Given the description of an element on the screen output the (x, y) to click on. 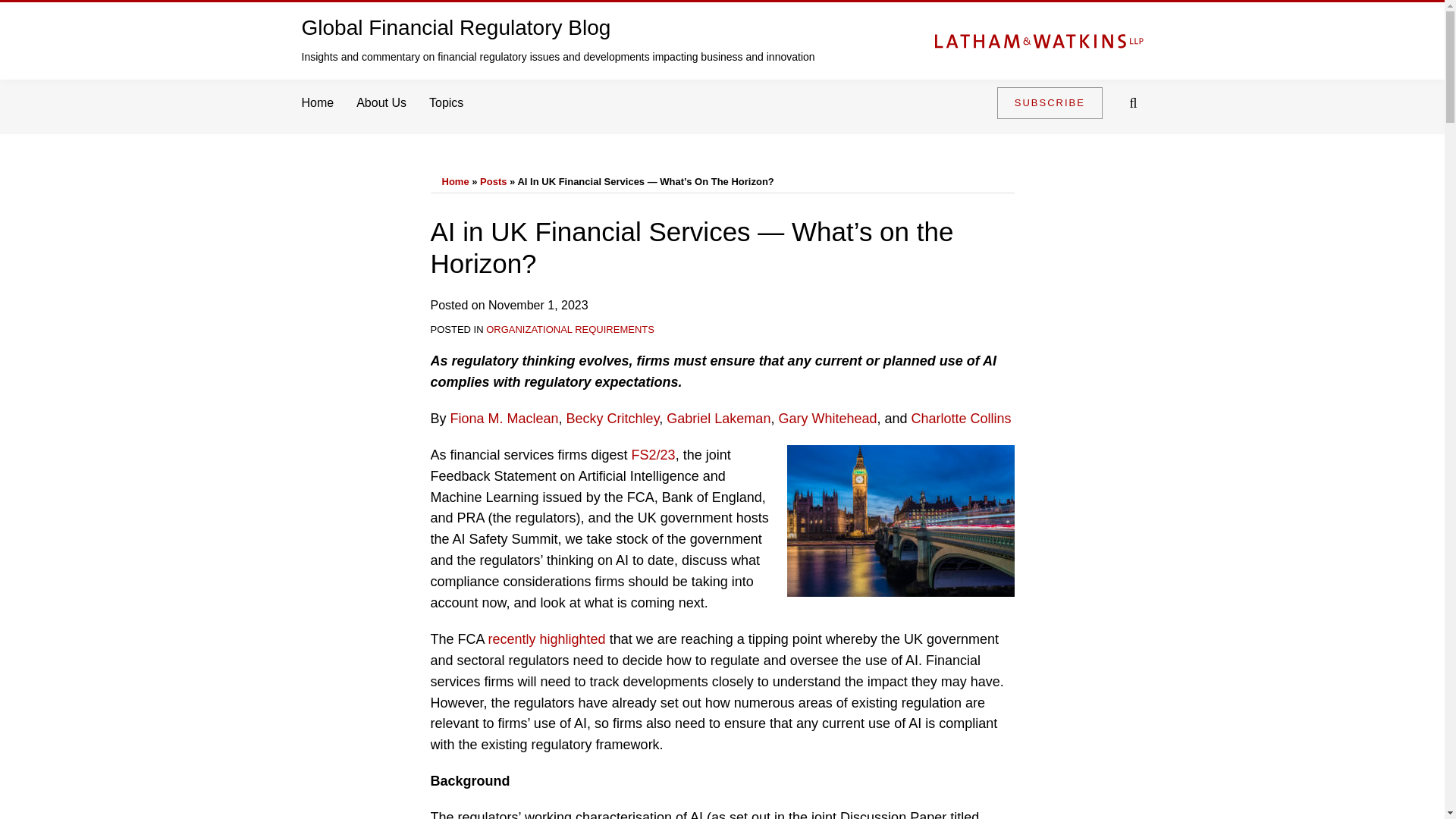
Home (454, 181)
Charlotte Collins (961, 418)
About Us (381, 103)
Global Financial Regulatory Blog (456, 27)
Fiona M. Maclean (504, 418)
Gabriel Lakeman (718, 418)
ORGANIZATIONAL REQUIREMENTS (569, 328)
SUBSCRIBE (1049, 102)
Gary Whitehead (826, 418)
recently highlighted (546, 639)
